Given the description of an element on the screen output the (x, y) to click on. 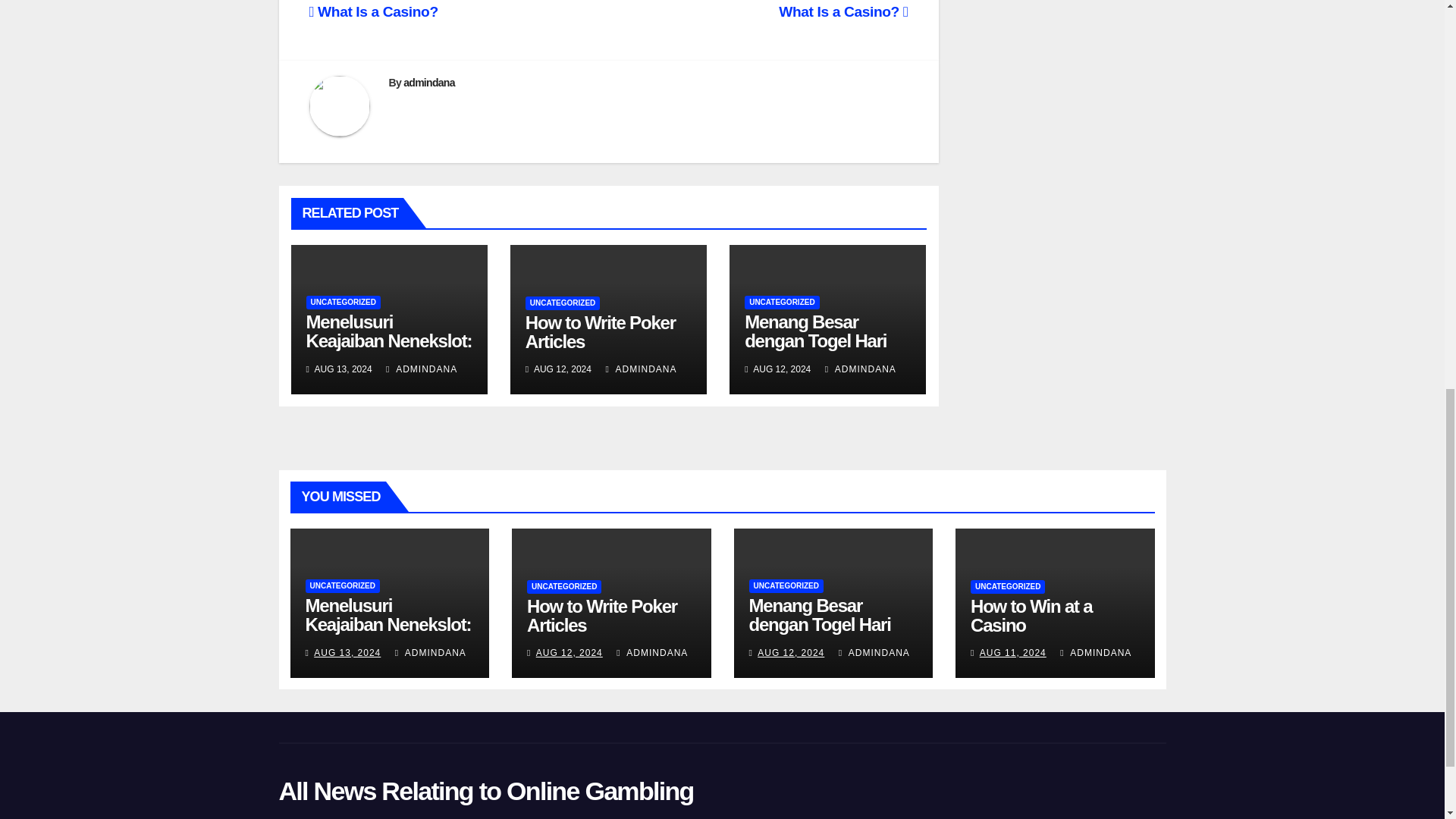
Permalink to: How to Win at a Casino (1031, 615)
UNCATEGORIZED (341, 585)
What Is a Casino? (373, 11)
ADMINDANA (860, 368)
admindana (428, 82)
ADMINDANA (429, 652)
UNCATEGORIZED (781, 302)
What Is a Casino? (842, 11)
